Given the description of an element on the screen output the (x, y) to click on. 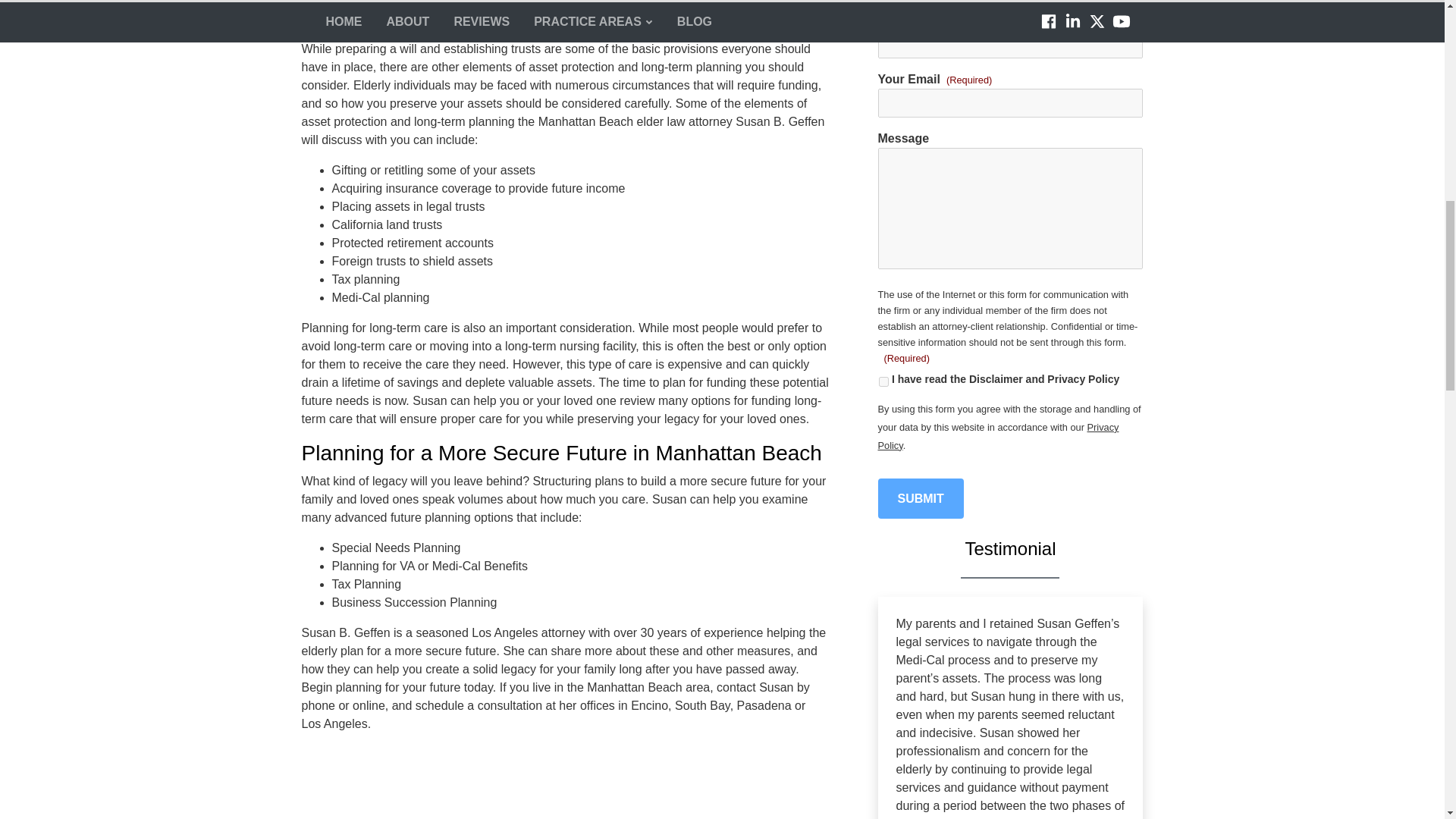
Privacy Policy (998, 436)
Submit (920, 498)
I have read the Disclaimer and Privacy Policy (882, 381)
Submit (920, 498)
